Given the description of an element on the screen output the (x, y) to click on. 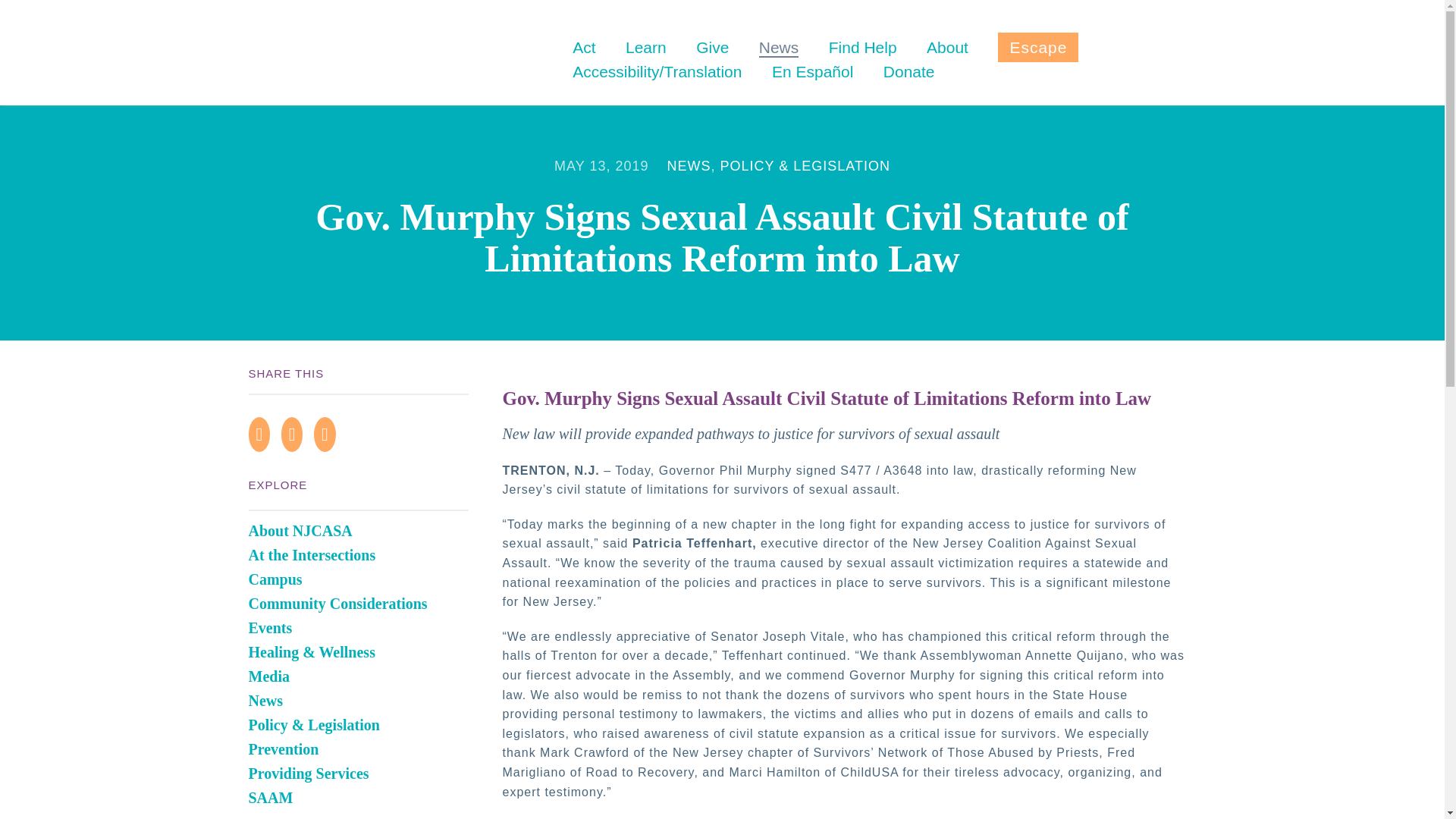
Learn (646, 47)
Providing Services (308, 773)
Give (712, 47)
Community Considerations (338, 603)
About NJCASA (300, 530)
SAAM (271, 797)
Campus (275, 579)
Find Help (862, 47)
Events (270, 627)
Donate (908, 70)
Skip to content (624, 38)
News (778, 47)
At the Intersections (311, 555)
Skip to content (624, 38)
Send to a friend (328, 432)
